Given the description of an element on the screen output the (x, y) to click on. 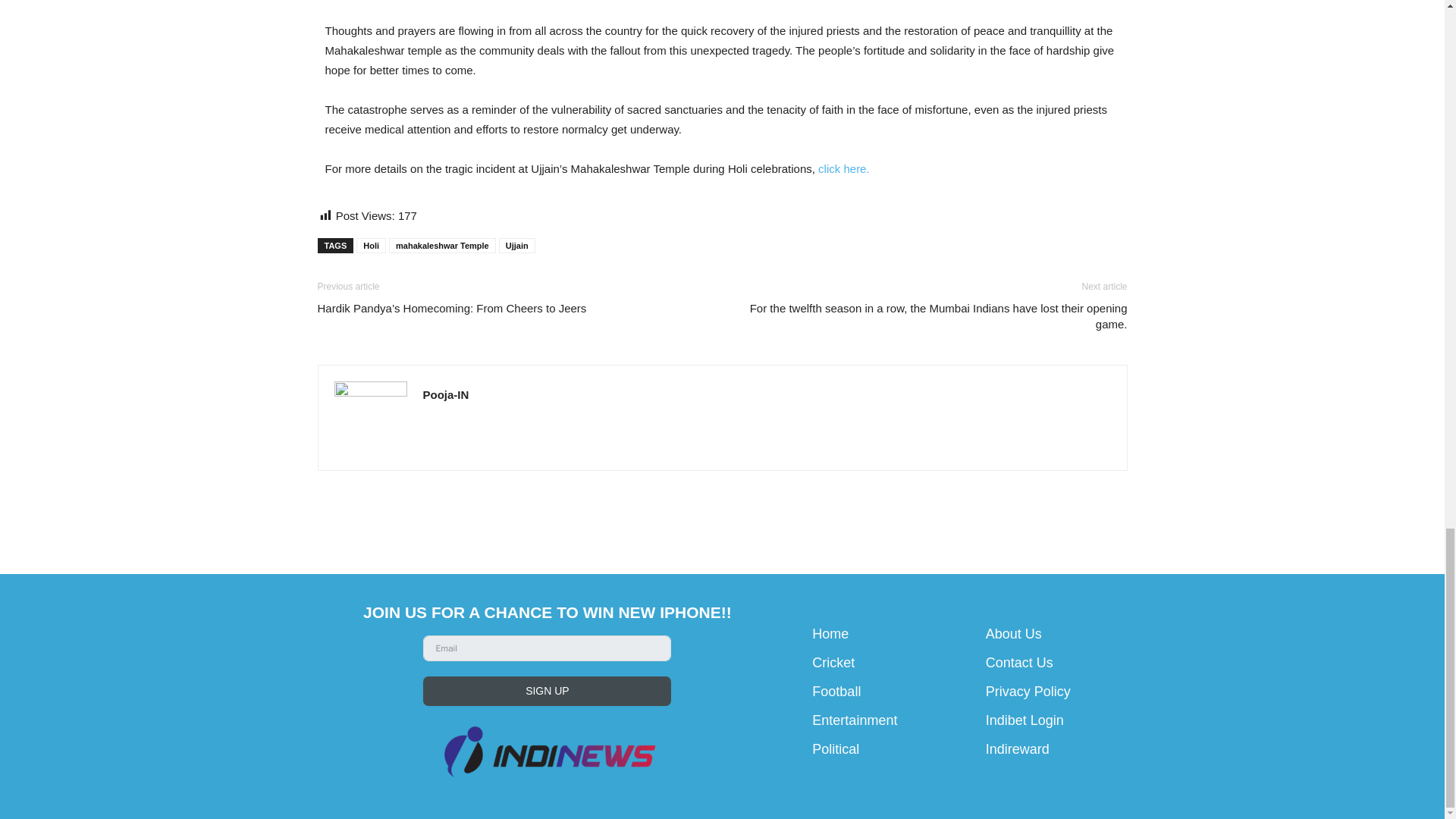
mahakaleshwar Temple (442, 245)
Ujjain (517, 245)
Contact Us (1018, 662)
Privacy Policy (1027, 691)
Holi (370, 245)
Political (835, 749)
Football (836, 691)
Indibet Login (1024, 720)
Indireward (1017, 749)
Entertainment (854, 720)
